Given the description of an element on the screen output the (x, y) to click on. 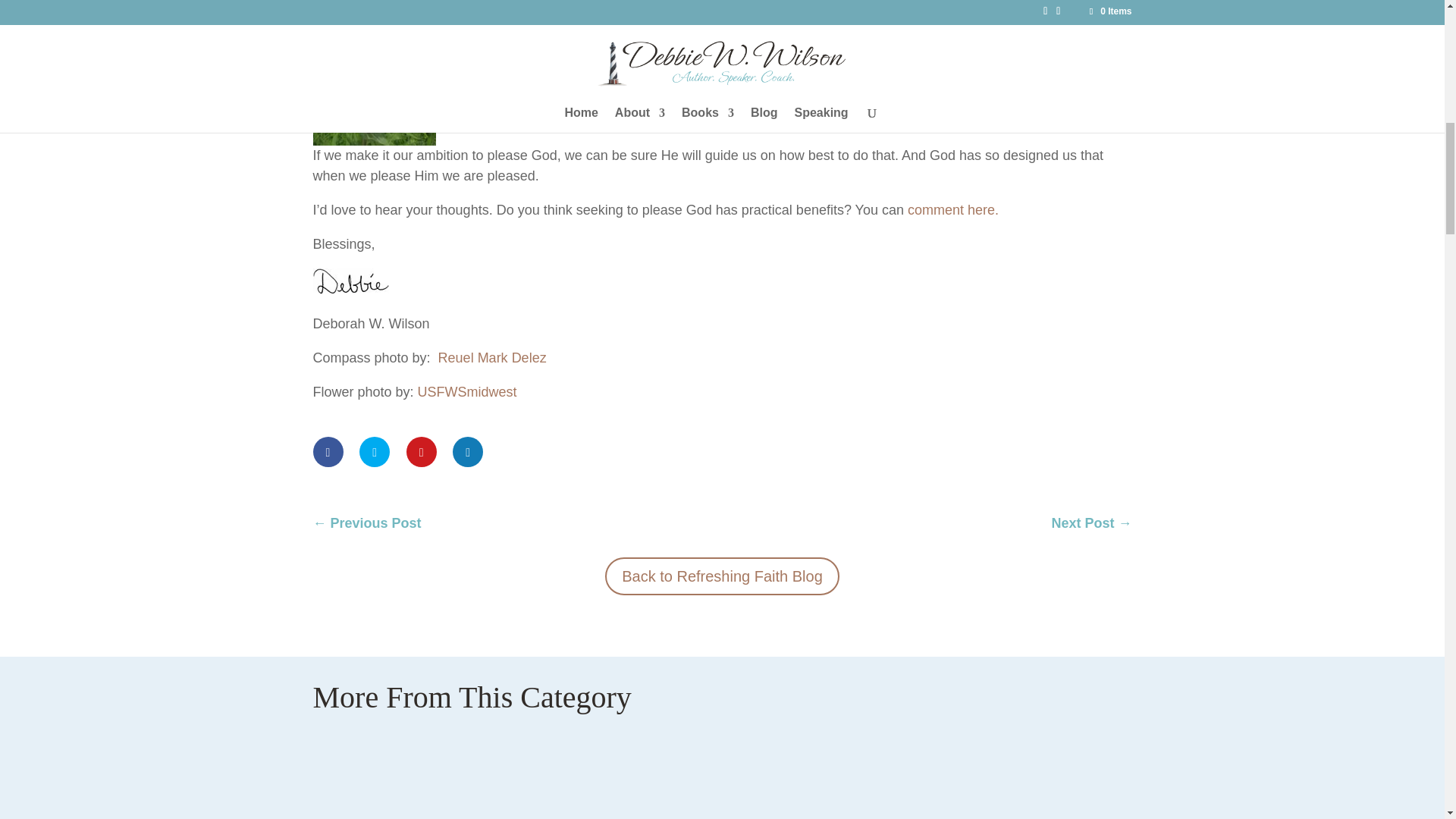
comment here. (952, 209)
Reuel Mark Delez (492, 357)
USFWSmidwest (466, 391)
Back to Refreshing Faith Blog (722, 576)
